Given the description of an element on the screen output the (x, y) to click on. 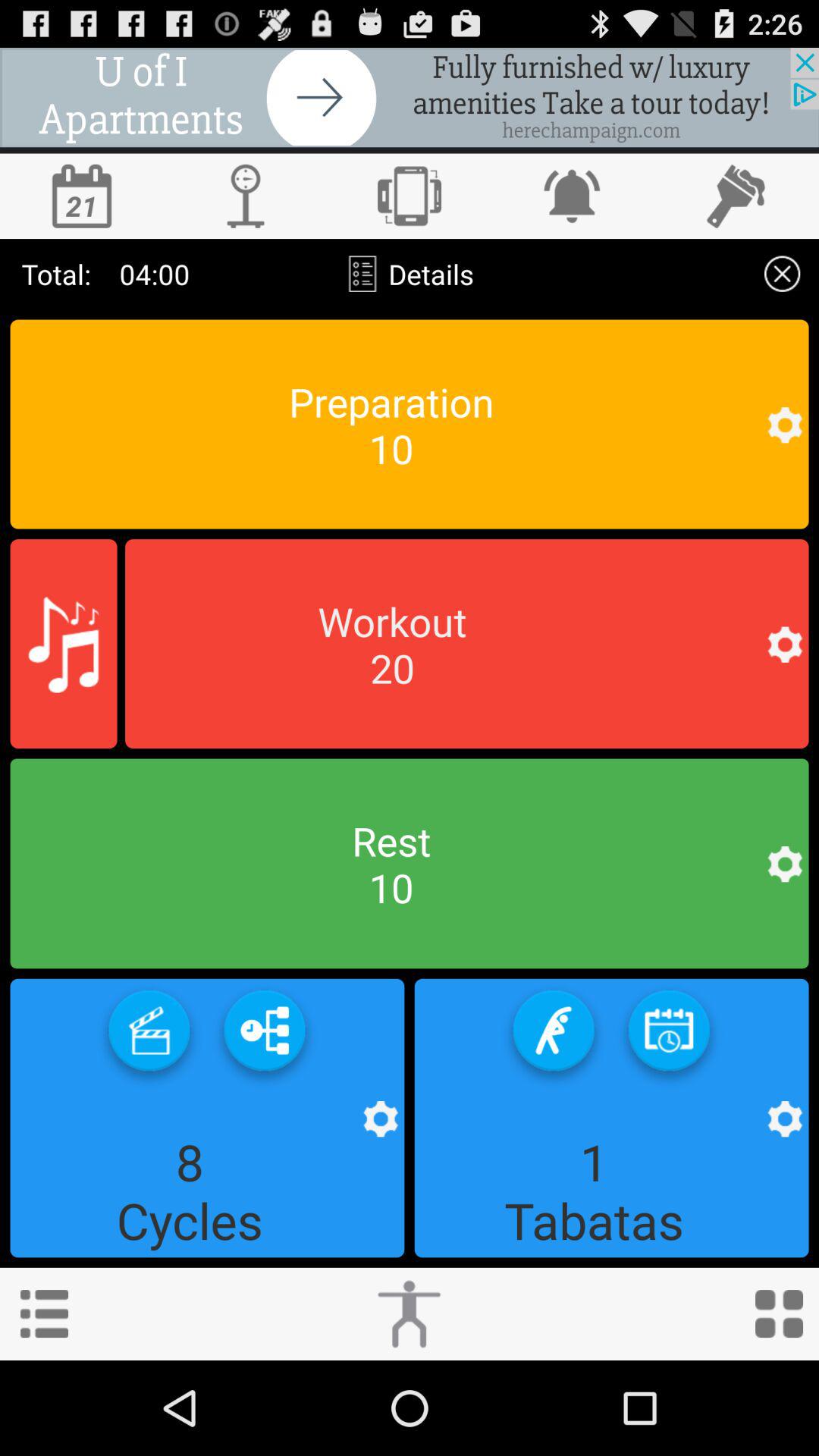
change workout music (63, 643)
